Given the description of an element on the screen output the (x, y) to click on. 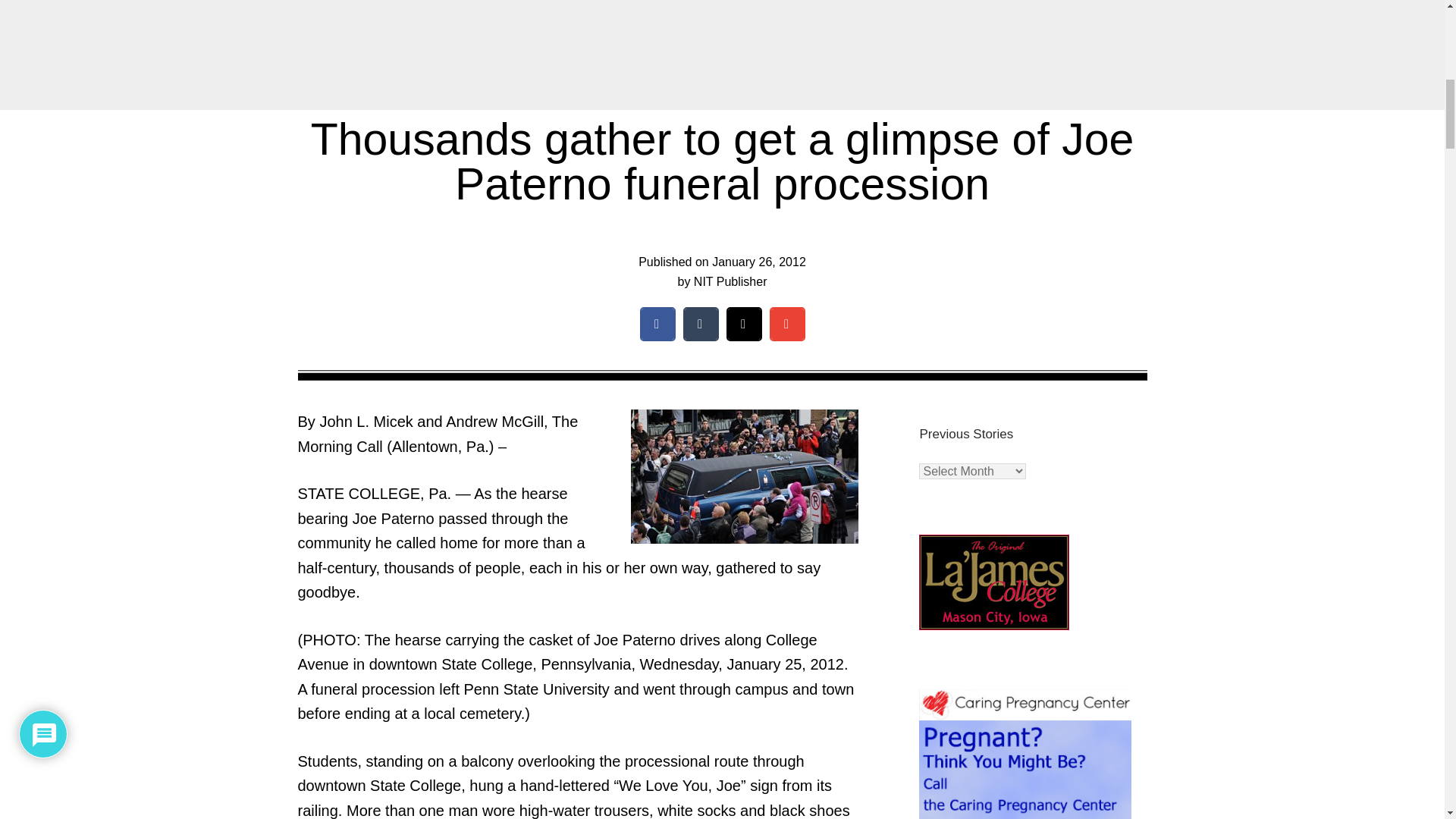
Advertisement (721, 51)
